Given the description of an element on the screen output the (x, y) to click on. 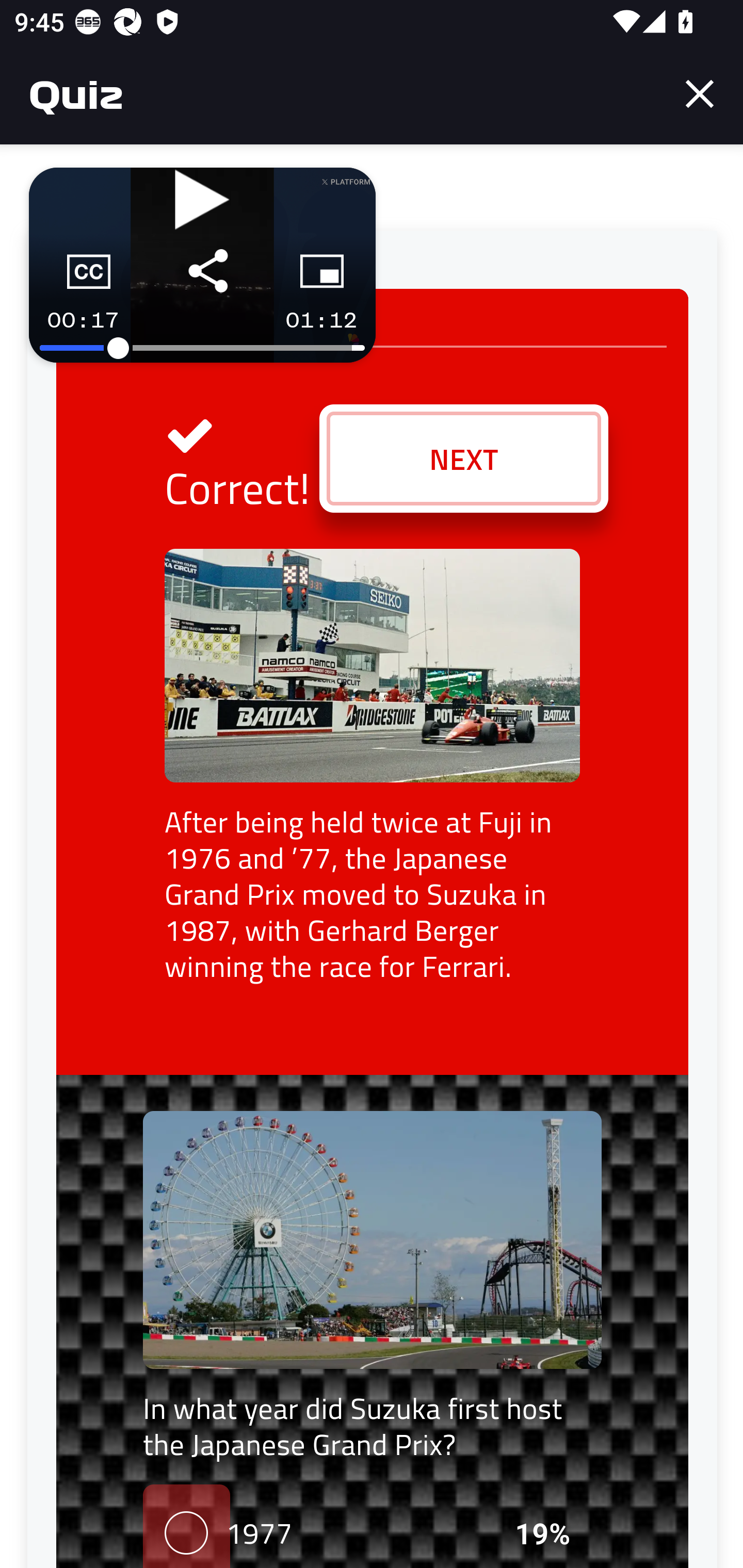
Close (699, 93)
NEXT (463, 459)
1977 19% (372, 1525)
